Given the description of an element on the screen output the (x, y) to click on. 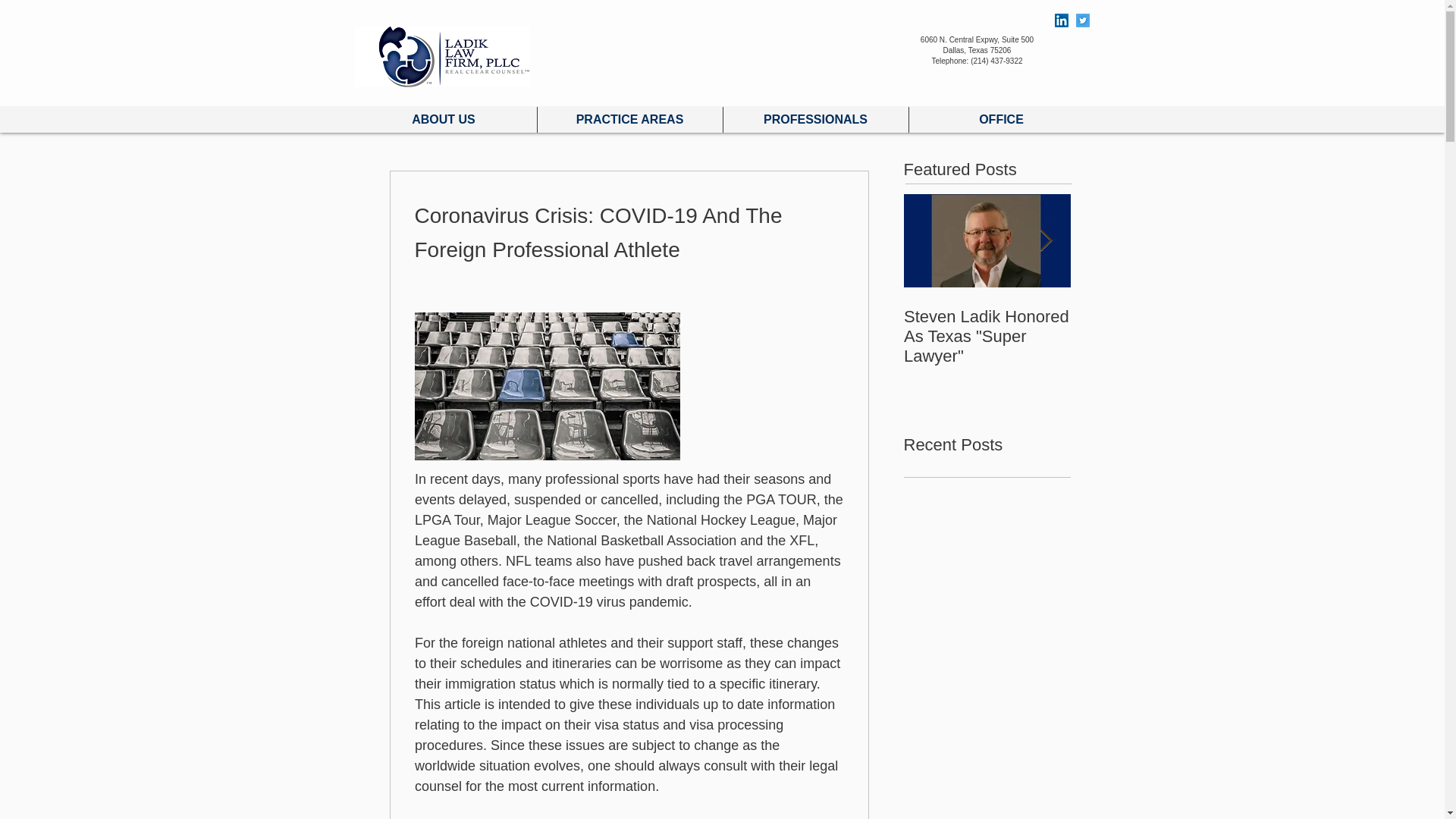
ABOUT US (442, 119)
PRACTICE AREAS (629, 119)
PROFESSIONALS (815, 119)
Steven Ladik Honored As Texas "Super Lawyer" (987, 336)
OFFICE (1000, 119)
